Given the description of an element on the screen output the (x, y) to click on. 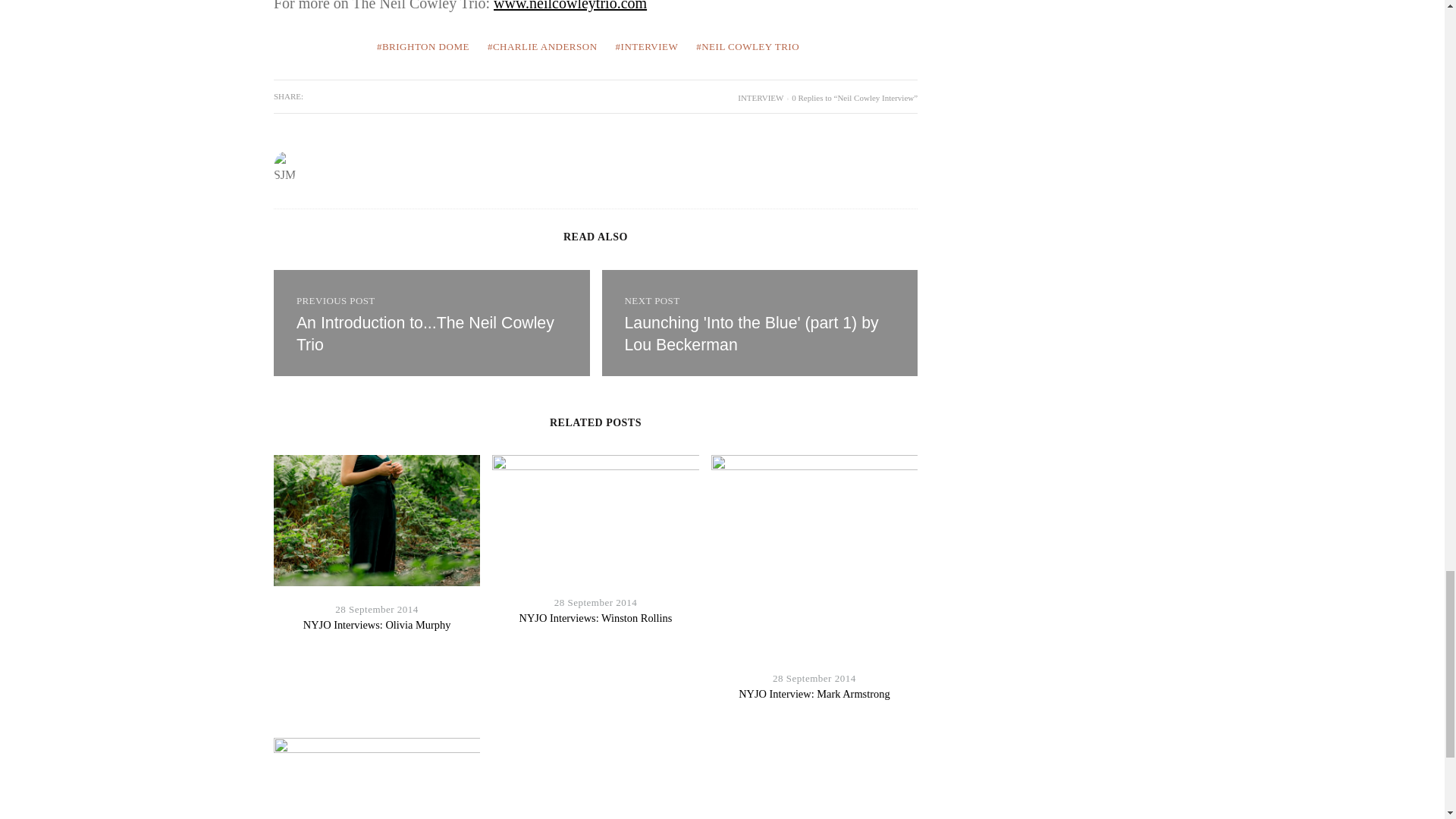
An Introduction to...The Neil Cowley Trio (431, 322)
NYJO Interviews: Winston Rollins (595, 617)
Neil Cowley Interview (751, 333)
Neil Cowley Interview (760, 322)
View all posts under this category. (760, 97)
NYJO Interviews: Olivia Murphy (376, 624)
Neil Cowley Interview (431, 322)
Neil Cowley Interview (425, 333)
www.neilcowleytrio.com (569, 5)
An Introduction to...The Neil Cowley Trio (425, 333)
